Given the description of an element on the screen output the (x, y) to click on. 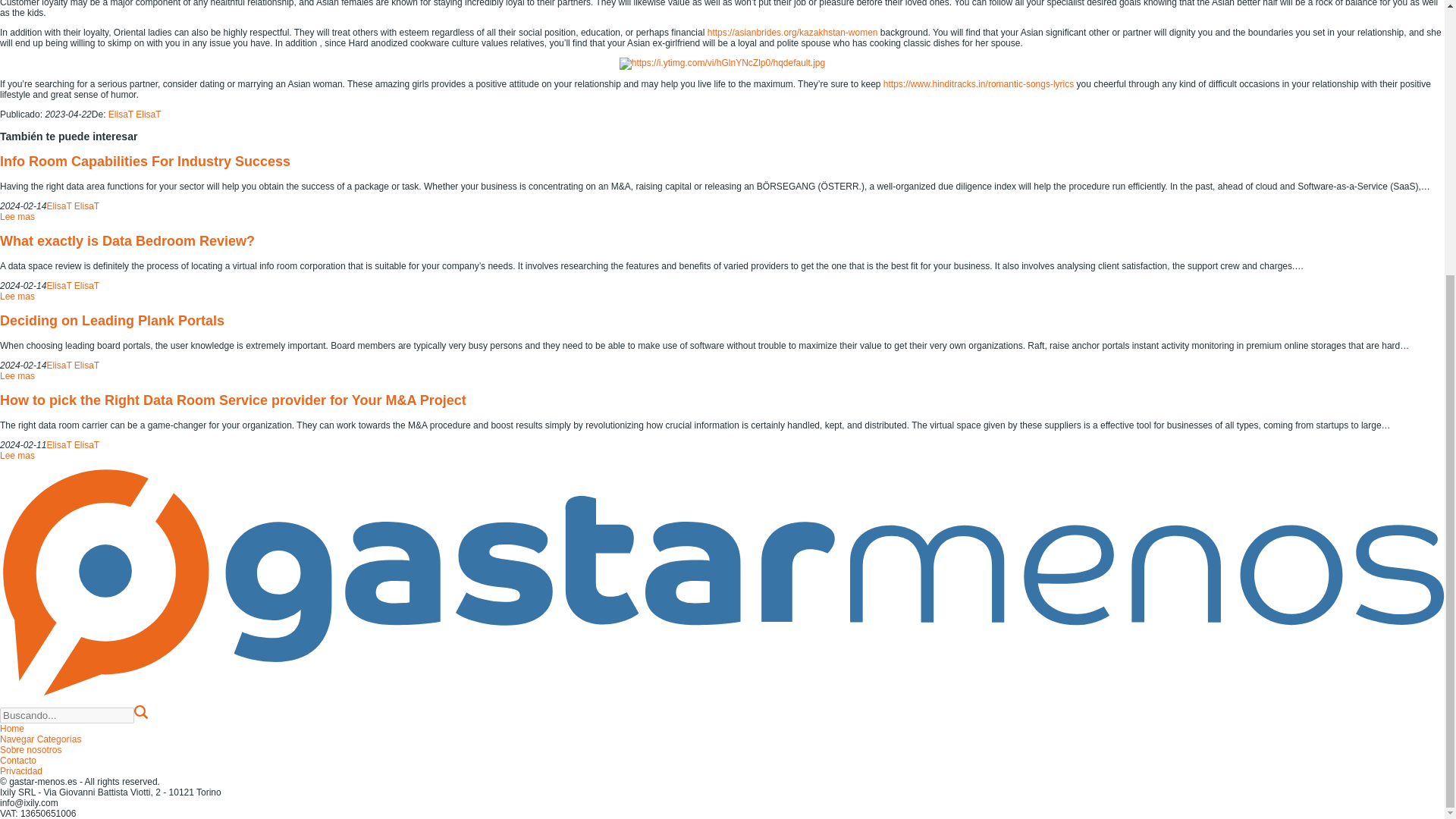
Lee mas (17, 296)
Deciding on Leading Plank Portals (112, 320)
Privacidad (21, 770)
Lee mas (17, 376)
ElisaT ElisaT (72, 285)
Sobre nosotros (30, 749)
ElisaT ElisaT (72, 365)
Info Room Capabilities For Industry Success (144, 160)
Home (12, 728)
ElisaT ElisaT (134, 113)
